Given the description of an element on the screen output the (x, y) to click on. 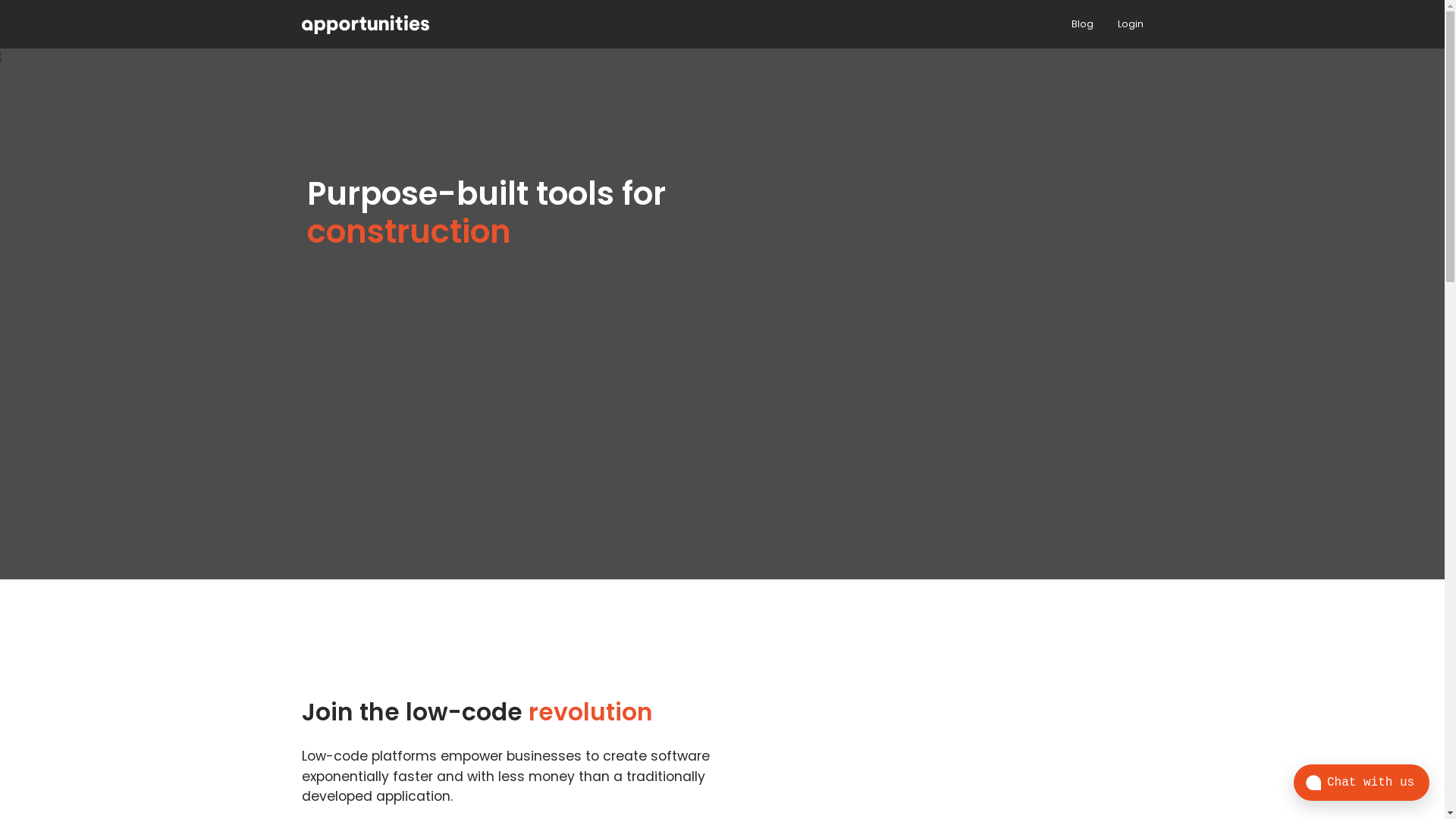
Blog Element type: text (1081, 24)
Chat with us Element type: text (1361, 782)
Login Element type: text (1130, 24)
